Given the description of an element on the screen output the (x, y) to click on. 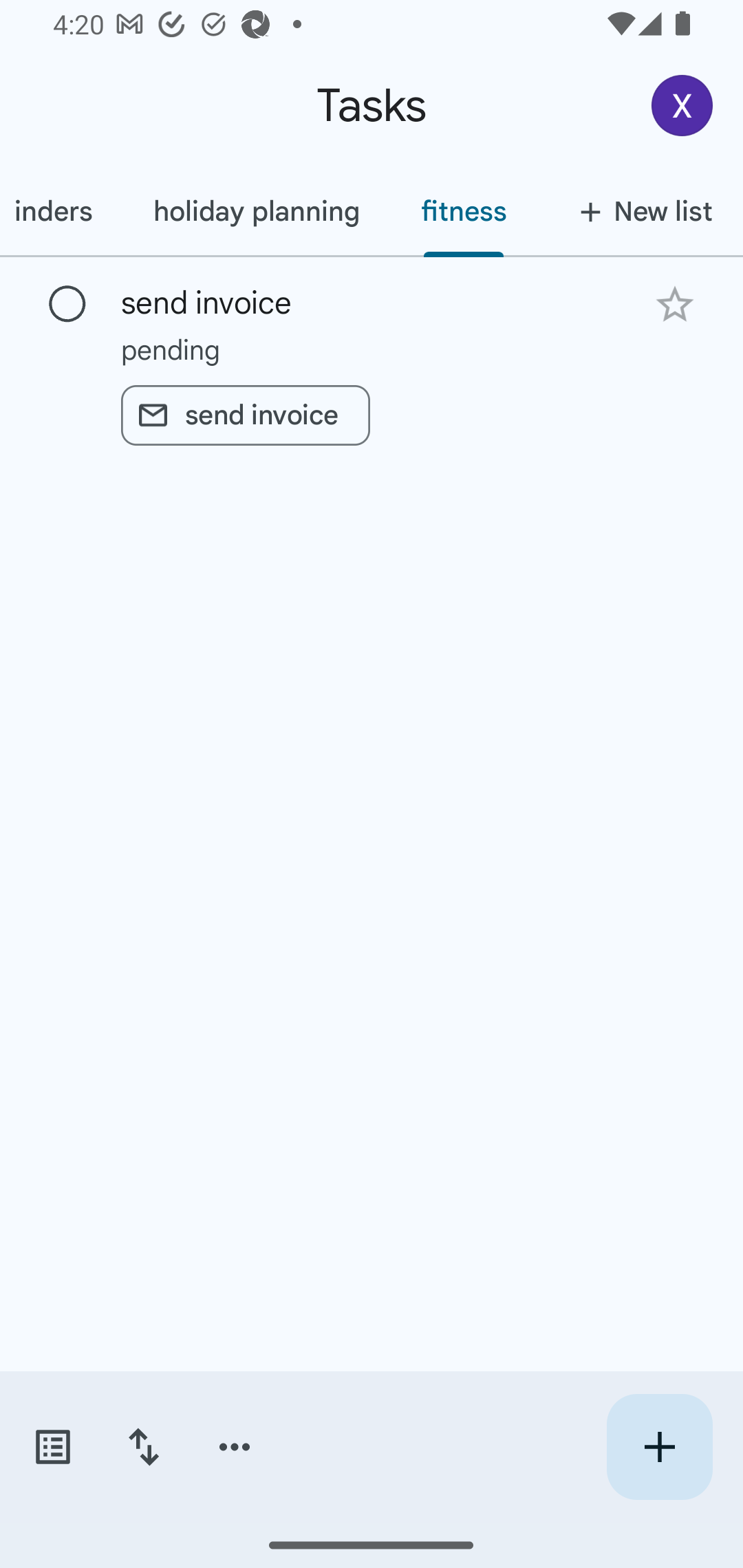
reminders (61, 211)
holiday planning (256, 211)
New list (640, 211)
Add star (674, 303)
Mark as complete (67, 304)
pending (371, 349)
send invoice Related link (245, 415)
Switch task lists (52, 1447)
Create new task (659, 1446)
Change sort order (143, 1446)
More options (234, 1446)
